Given the description of an element on the screen output the (x, y) to click on. 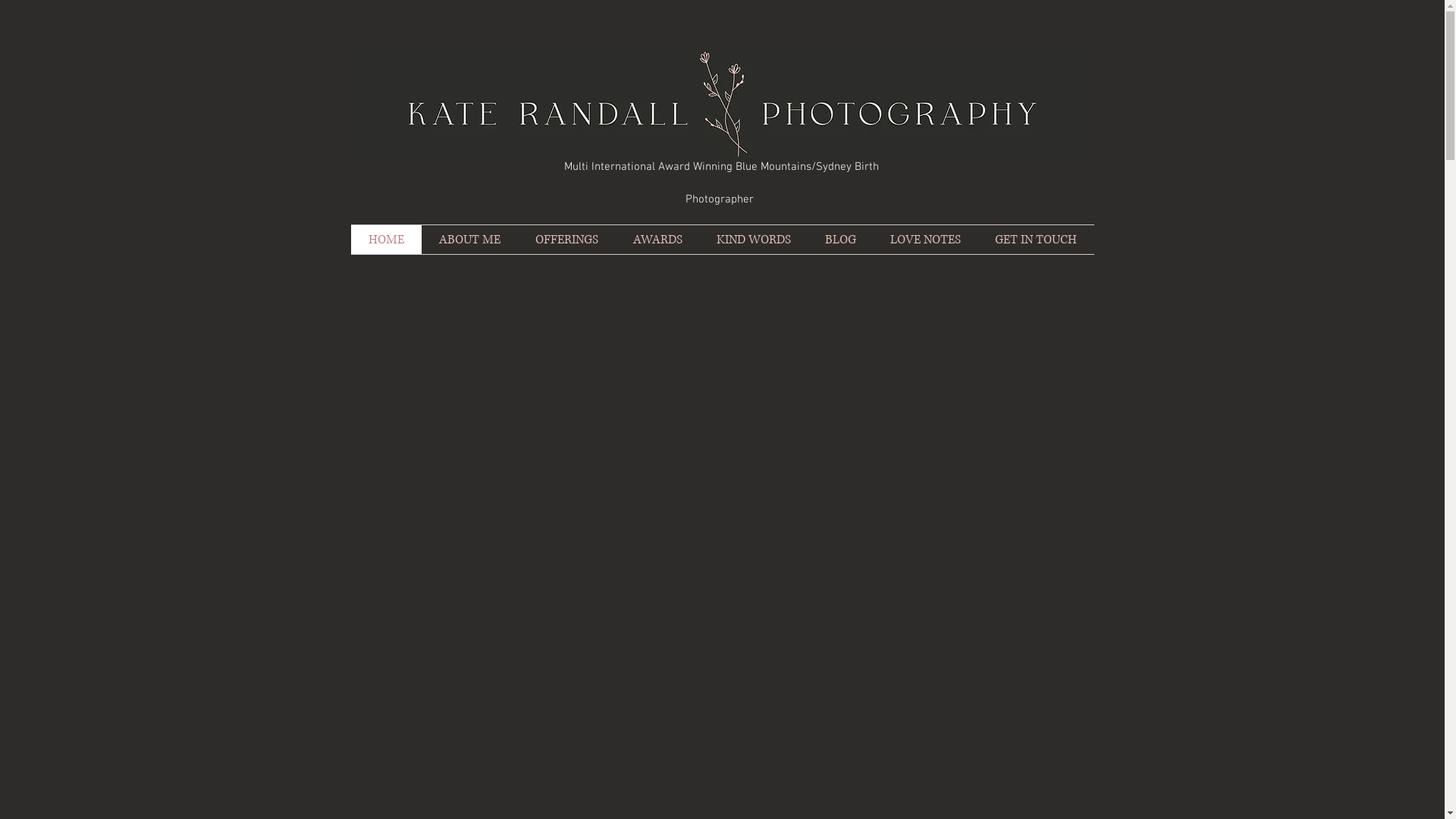
HOME Element type: text (385, 239)
BLOG Element type: text (840, 239)
ABOUT ME Element type: text (469, 239)
GET IN TOUCH Element type: text (1036, 239)
LOVE NOTES Element type: text (925, 239)
OFFERINGS Element type: text (566, 239)
AWARDS Element type: text (657, 239)
KIND WORDS Element type: text (753, 239)
